Given the description of an element on the screen output the (x, y) to click on. 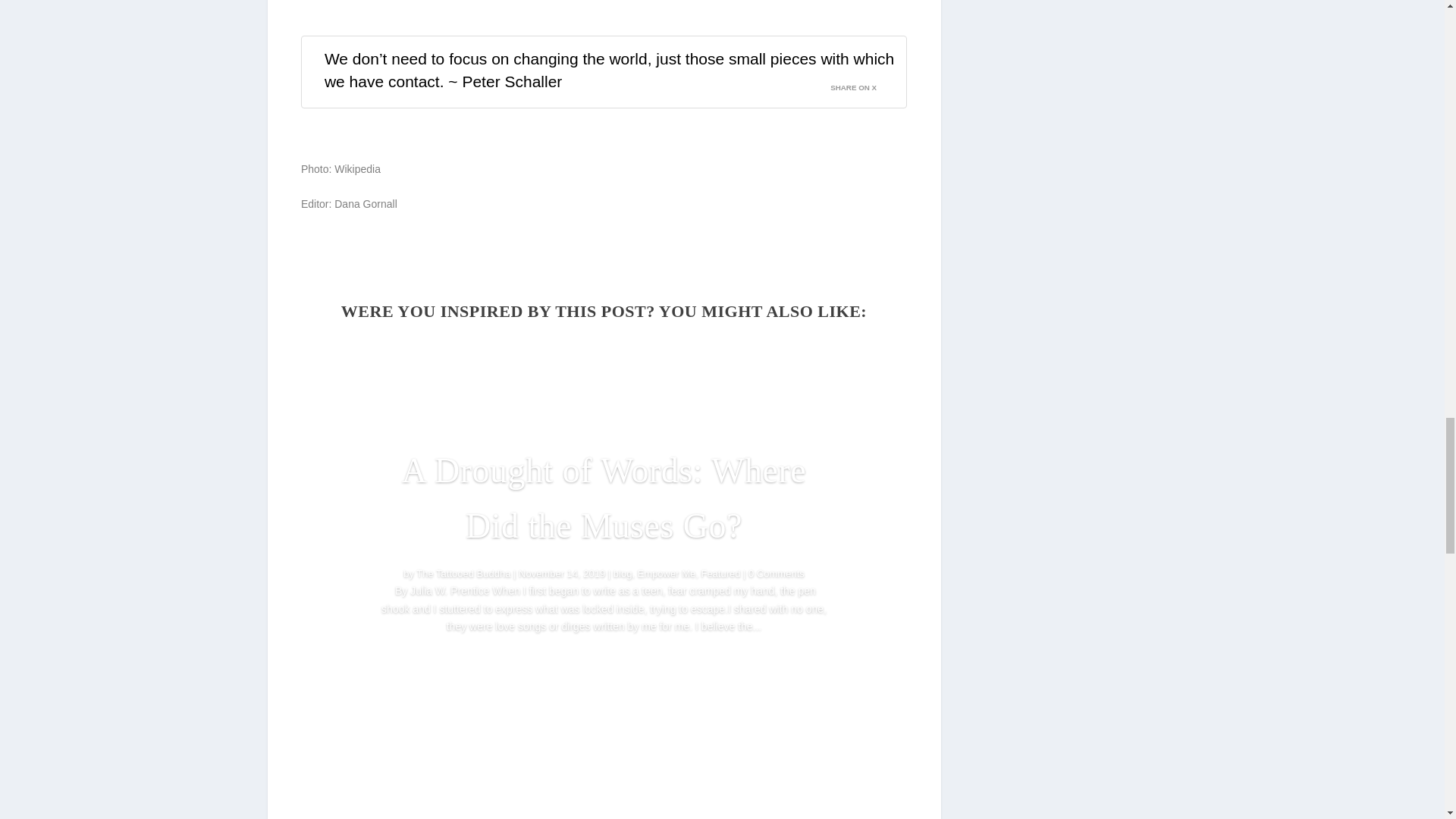
Wikipedia (357, 168)
The Tattooed Buddha (463, 573)
Posts by The Tattooed Buddha (463, 573)
Empower Me (666, 573)
blog (621, 573)
SHARE ON X (862, 83)
A Drought of Words: Where Did the Muses Go? (603, 498)
